Given the description of an element on the screen output the (x, y) to click on. 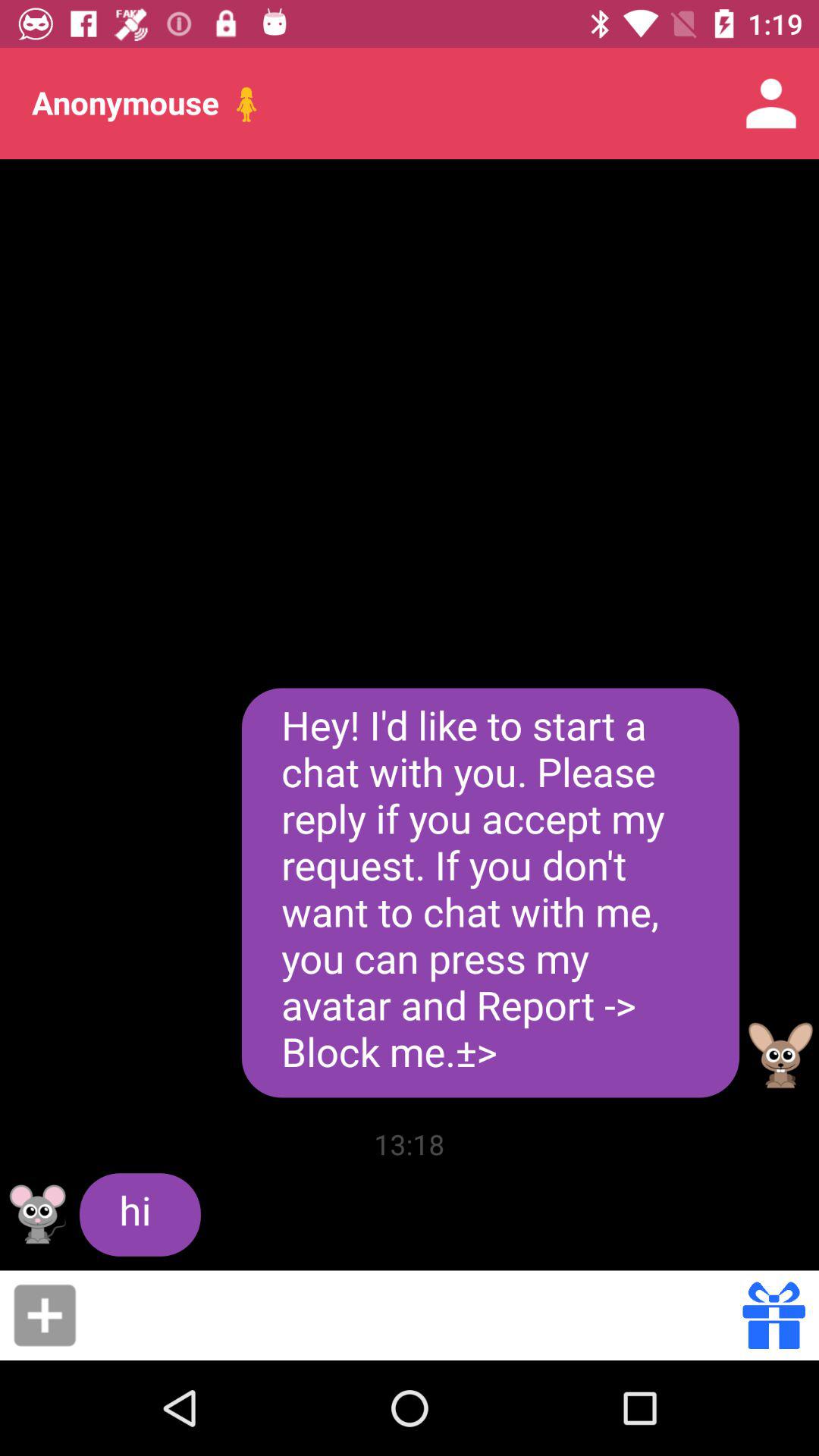
share the message (414, 1315)
